Given the description of an element on the screen output the (x, y) to click on. 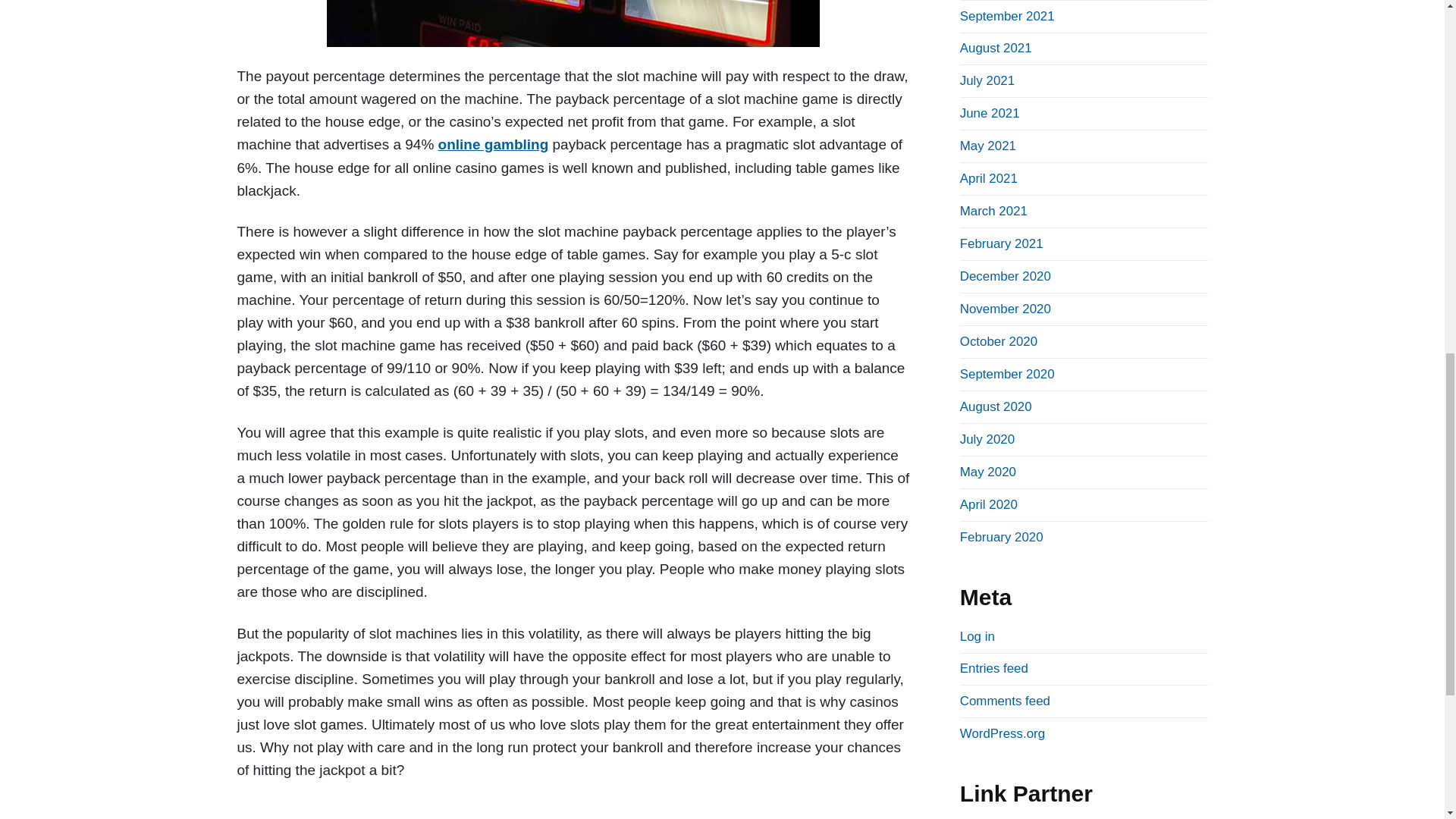
August 2020 (995, 406)
April 2021 (988, 178)
August 2021 (995, 47)
February 2021 (1001, 243)
November 2020 (1005, 309)
September 2020 (1006, 373)
July 2020 (986, 439)
June 2021 (989, 113)
March 2021 (993, 210)
October 2020 (997, 341)
